Given the description of an element on the screen output the (x, y) to click on. 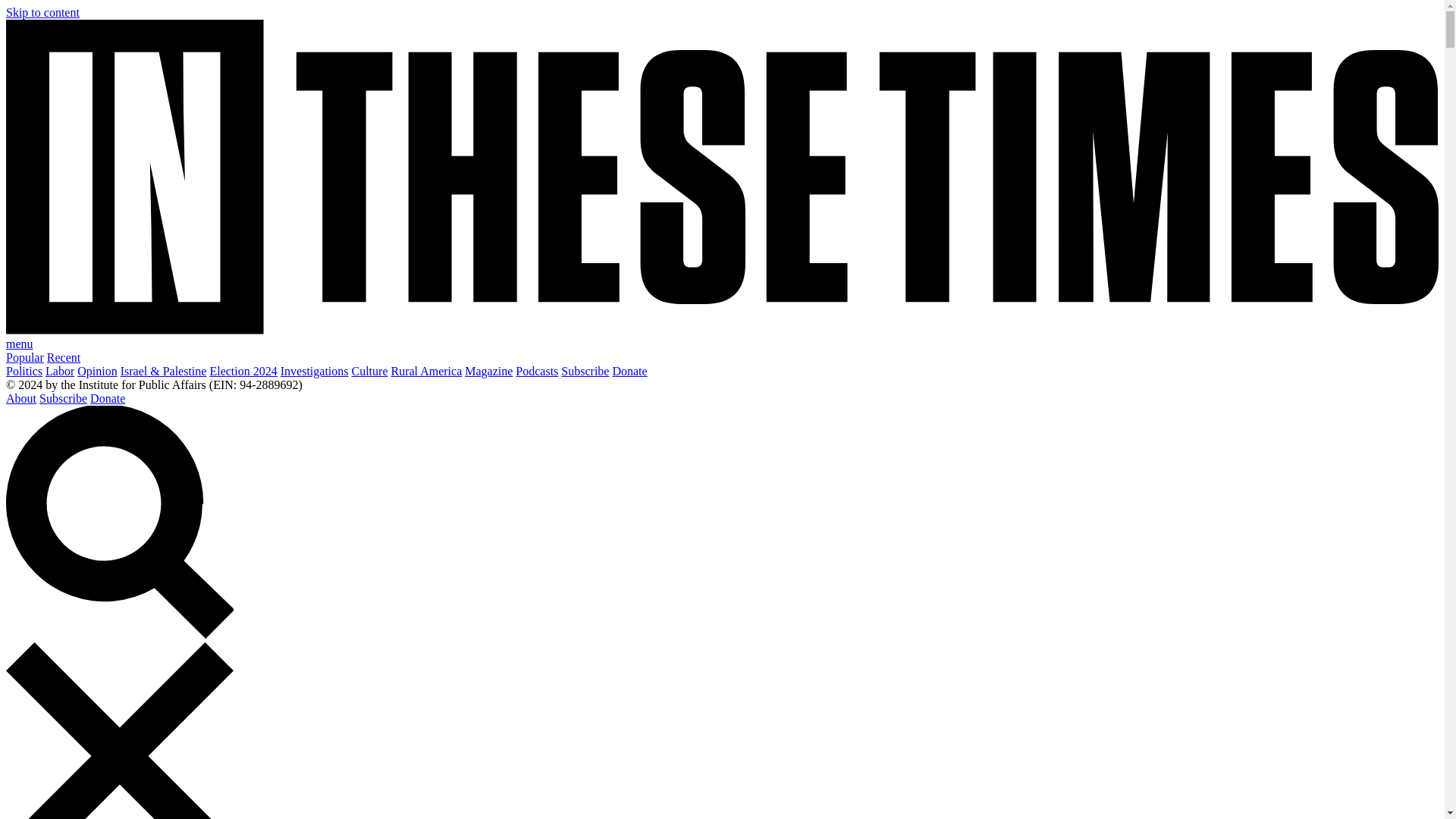
Skip to content (42, 11)
Subscribe (584, 370)
Election 2024 (242, 370)
About (20, 398)
search (118, 522)
Rural America (427, 370)
Recent (63, 357)
close (118, 730)
Popular (24, 357)
Labor (59, 370)
